Given the description of an element on the screen output the (x, y) to click on. 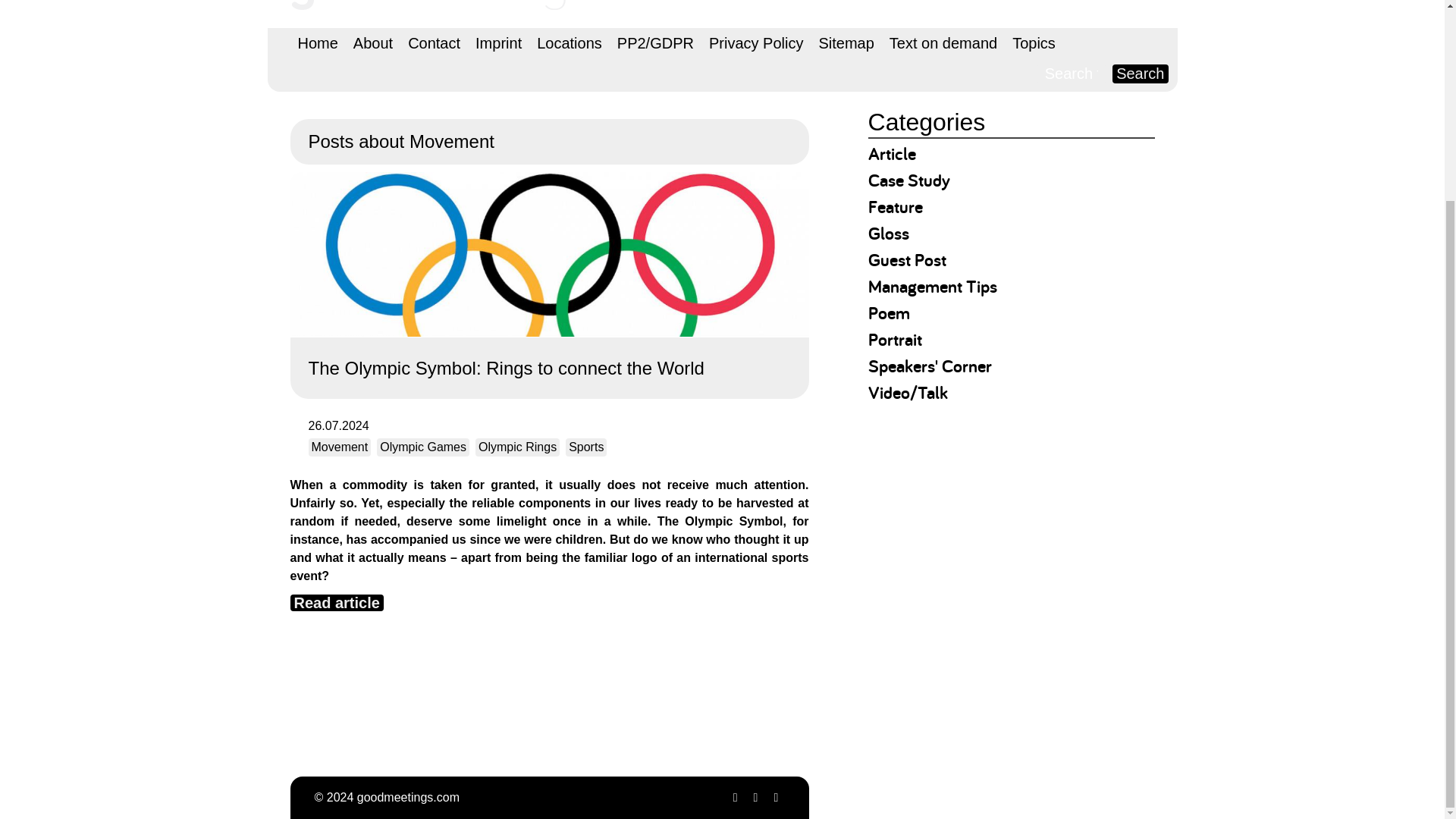
Olympic Games (422, 447)
Twitter (734, 797)
Topics (1033, 42)
Feature (895, 206)
Portrait (894, 339)
Search (1139, 73)
Home (317, 42)
Facebook (754, 797)
Speakers' Corner (929, 365)
Search (1139, 73)
